Given the description of an element on the screen output the (x, y) to click on. 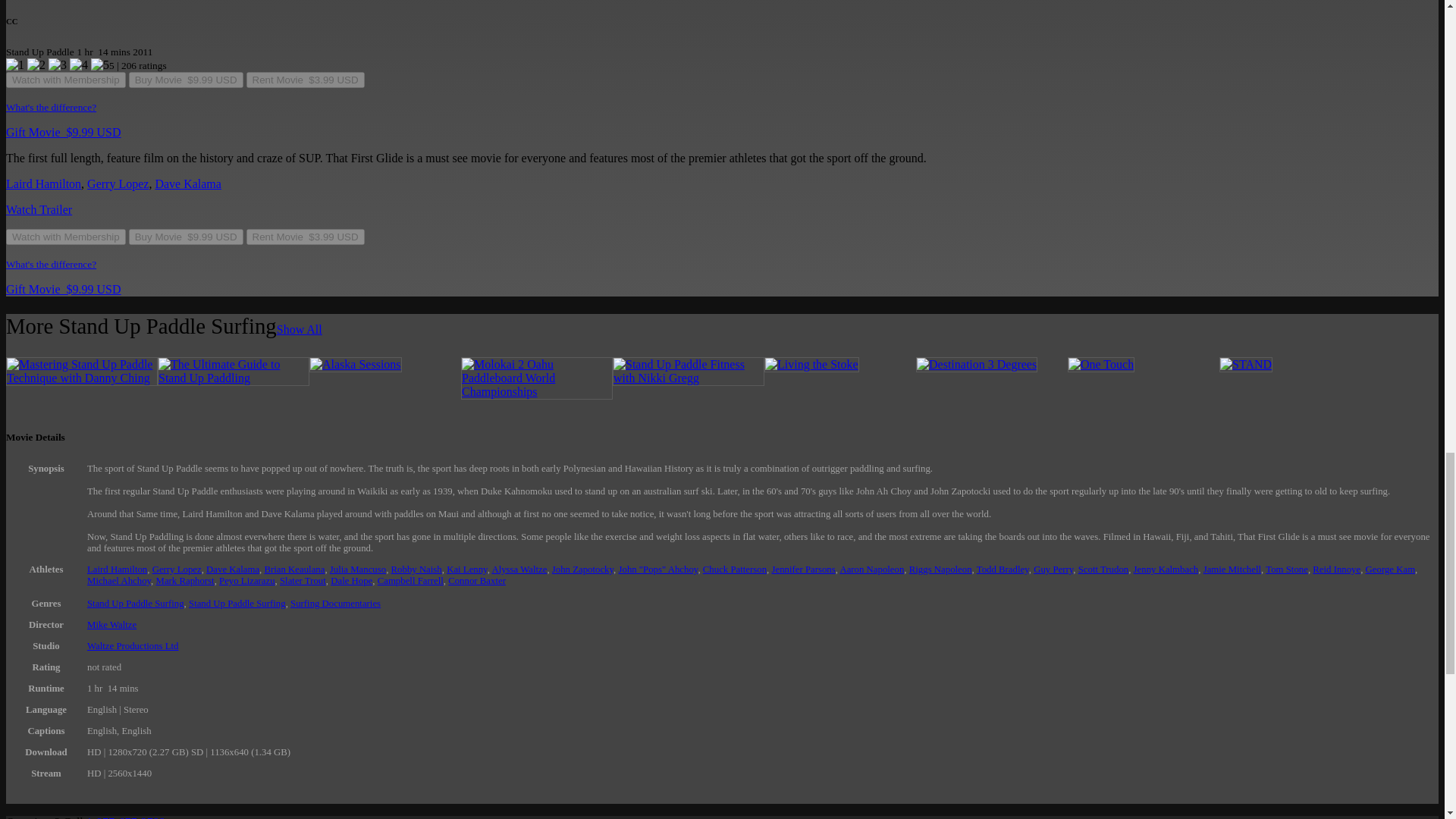
hated it (14, 64)
Living the Stoke (811, 364)
Destination 3 Degrees (975, 364)
Watch with Membership (65, 78)
Molokai 2 Oahu Paddleboard World Championships (536, 391)
liked it (57, 64)
Stand Up Paddle Fitness with Nikki Gregg (688, 377)
really like it (78, 64)
Mastering Stand Up Paddle Technique with Danny Ching (81, 377)
The Ultimate Guide to Stand Up Paddling (232, 377)
